Given the description of an element on the screen output the (x, y) to click on. 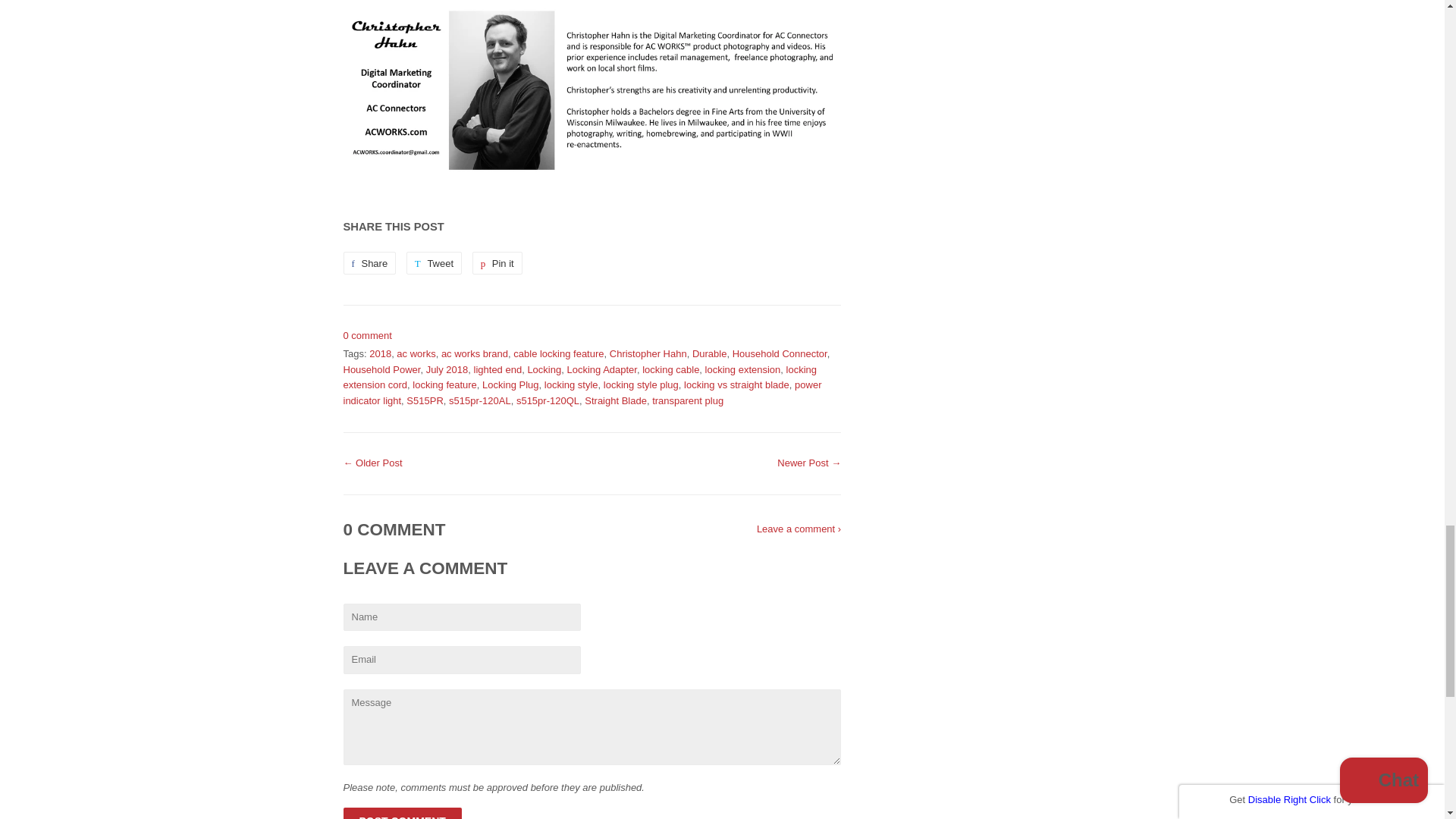
Tweet on Twitter (433, 262)
Share on Facebook (369, 262)
Post comment (401, 813)
Pin on Pinterest (496, 262)
Christopher Hahn Marketing Coordinator  (591, 89)
